Given the description of an element on the screen output the (x, y) to click on. 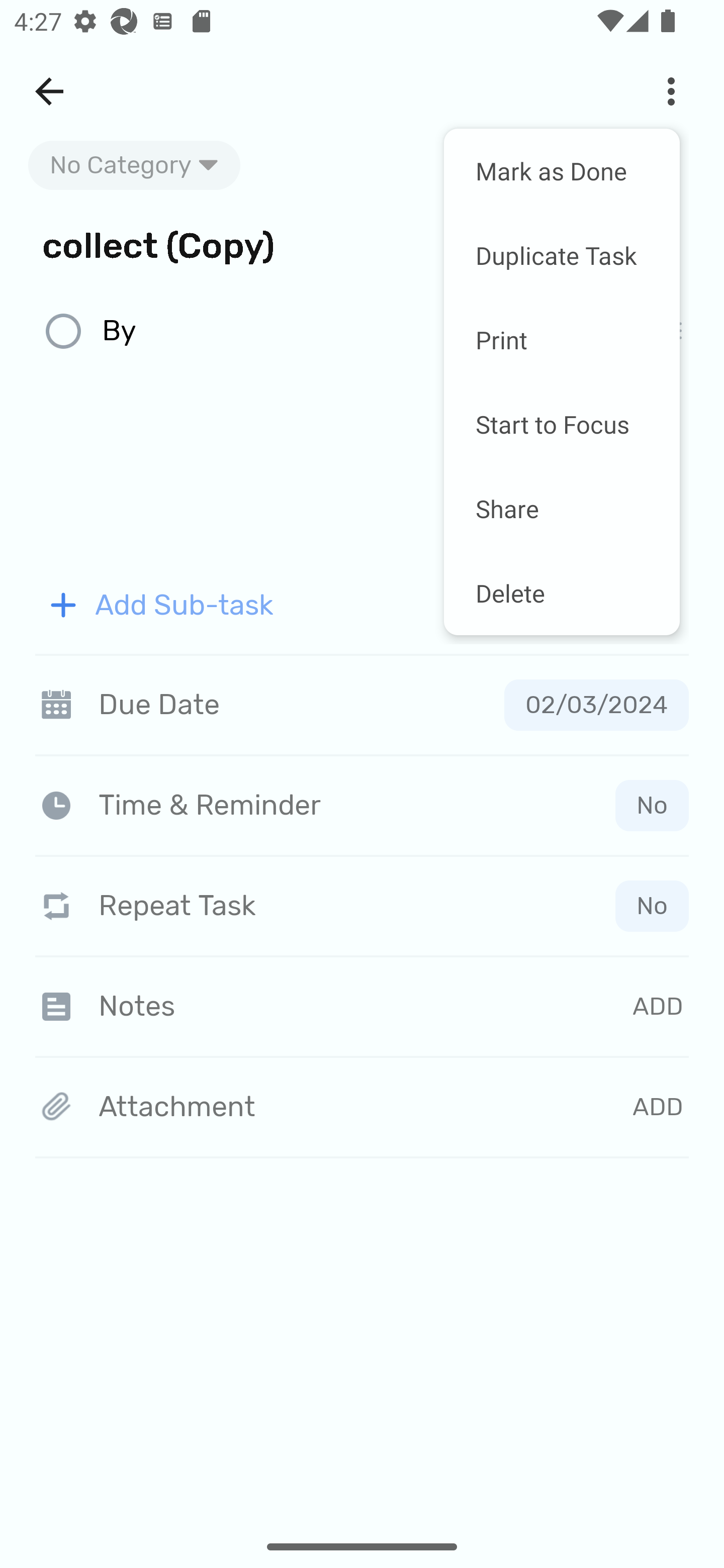
Mark as Done (561, 170)
Duplicate Task (561, 255)
Print (561, 339)
Start to Focus (561, 423)
Share (561, 507)
Delete (561, 592)
